Given the description of an element on the screen output the (x, y) to click on. 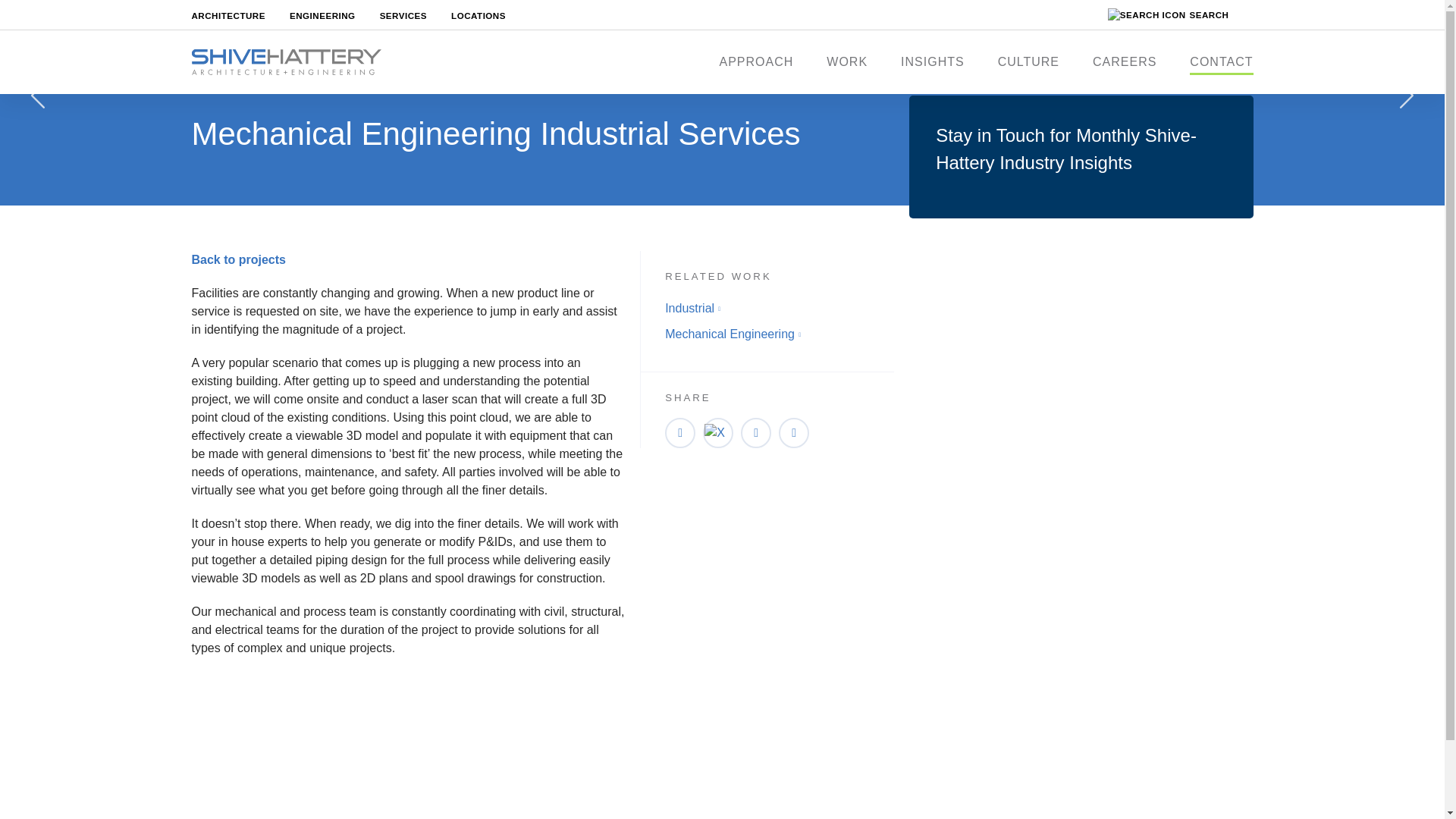
Share on LinkedIn (680, 432)
Tweet this (718, 432)
APPROACH (756, 62)
Share via Mail (793, 432)
Share on Facebook (756, 432)
